Given the description of an element on the screen output the (x, y) to click on. 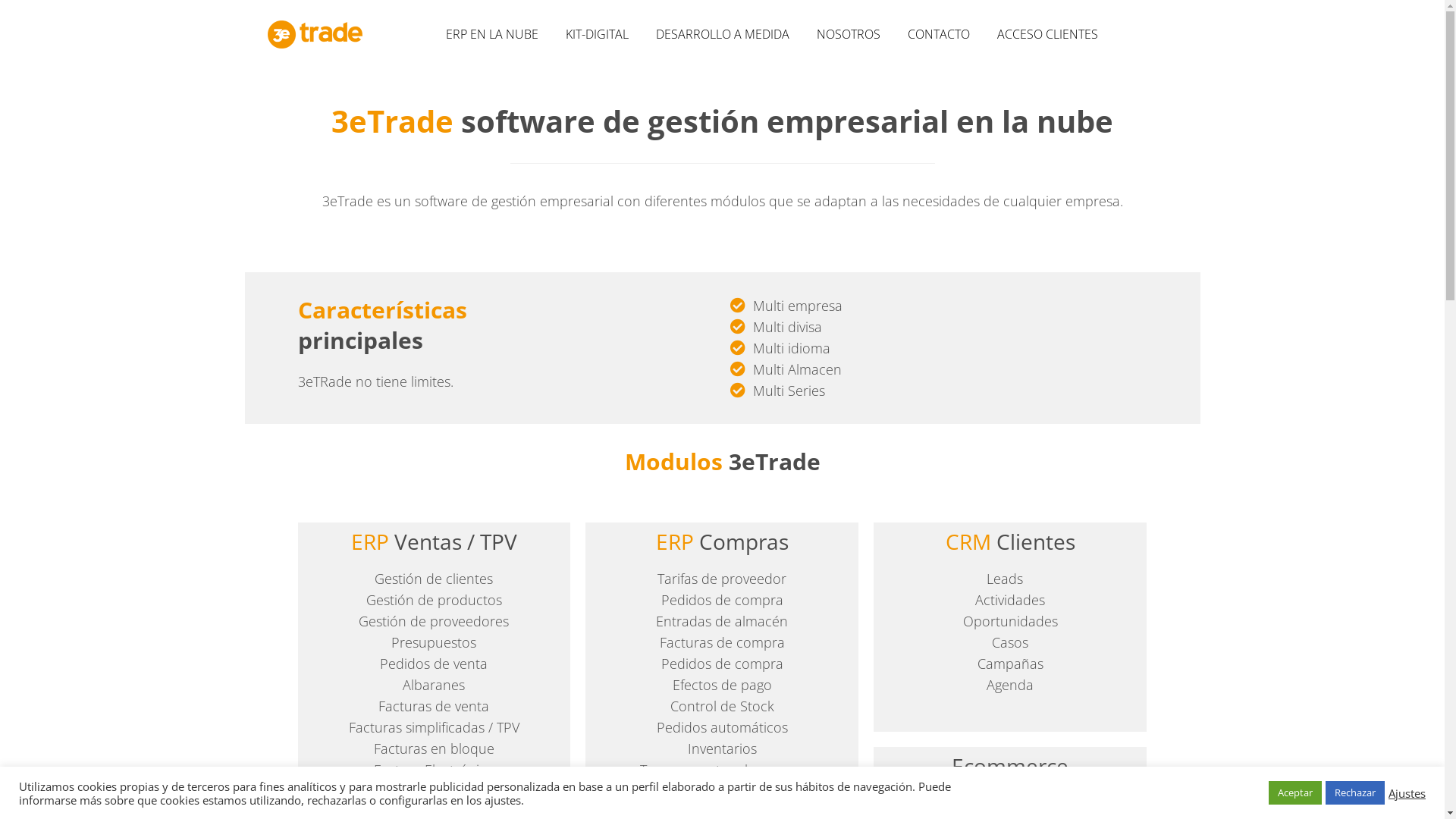
ERP en la nube Element type: text (542, 577)
Aviso legal Element type: text (767, 577)
DESARROLLO A MEDIDA Element type: text (721, 33)
Nosotros Element type: text (528, 668)
Rechazar Element type: text (1354, 792)
ERP EN LA NUBE Element type: text (491, 33)
Kit-Digital Element type: text (528, 607)
Aceptar Element type: text (1294, 792)
CONTACTO Element type: text (937, 33)
ACCESO CLIENTES Element type: text (1046, 33)
Acceso Clientes Element type: text (543, 728)
NOSOTROS Element type: text (847, 33)
Ajustes Element type: text (1406, 792)
Desarrollo a medida Element type: text (555, 637)
Contacto Element type: text (527, 698)
KIT-DIGITAL Element type: text (596, 33)
